Given the description of an element on the screen output the (x, y) to click on. 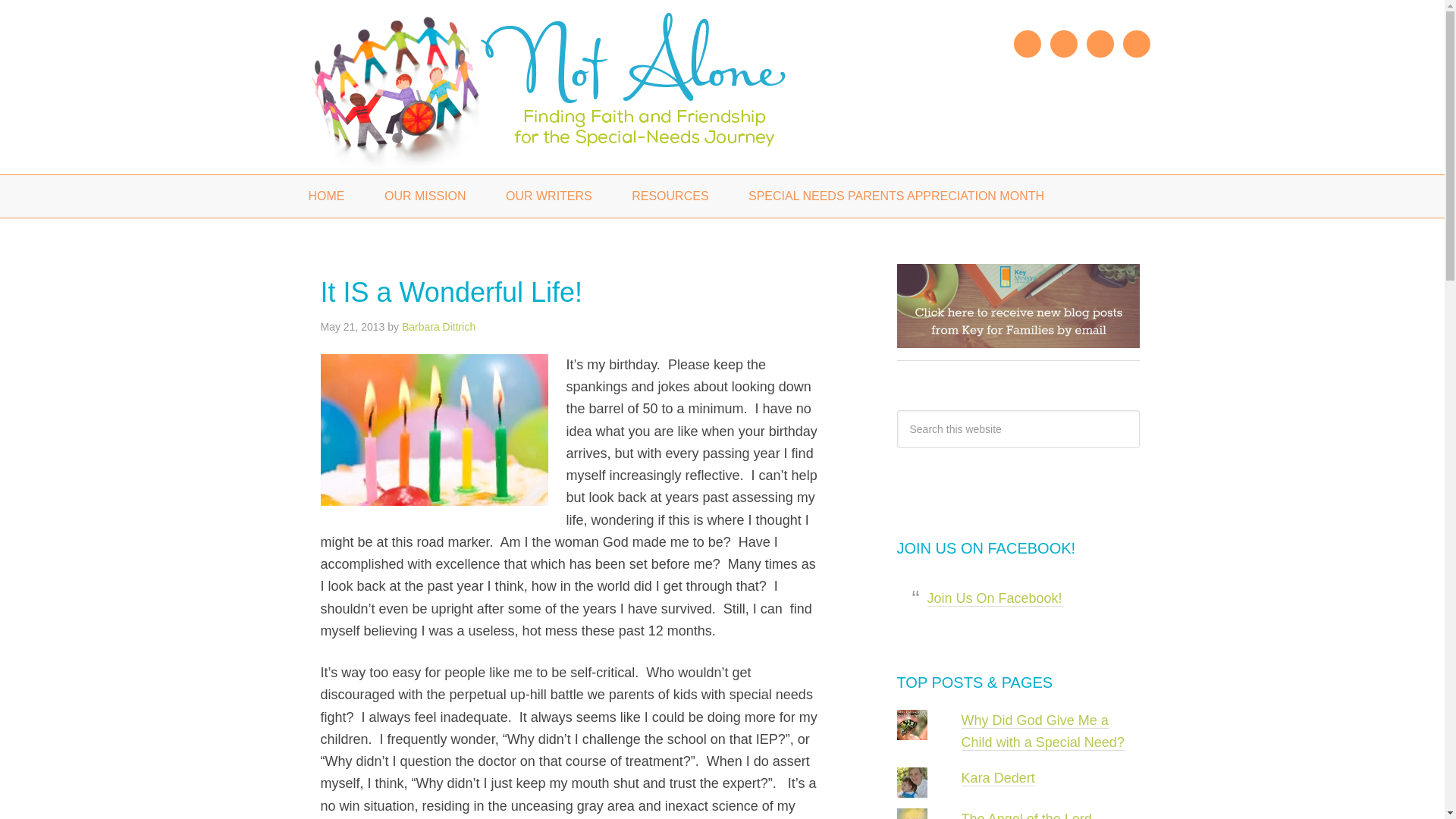
HOME (325, 196)
SPECIAL NEEDS PARENTING (577, 87)
OUR MISSION (425, 196)
Barbara Dittrich (438, 326)
RESOURCES (669, 196)
SPECIAL NEEDS PARENTS APPRECIATION MONTH (896, 196)
OUR WRITERS (548, 196)
Meet Our Writing Team (548, 196)
